Given the description of an element on the screen output the (x, y) to click on. 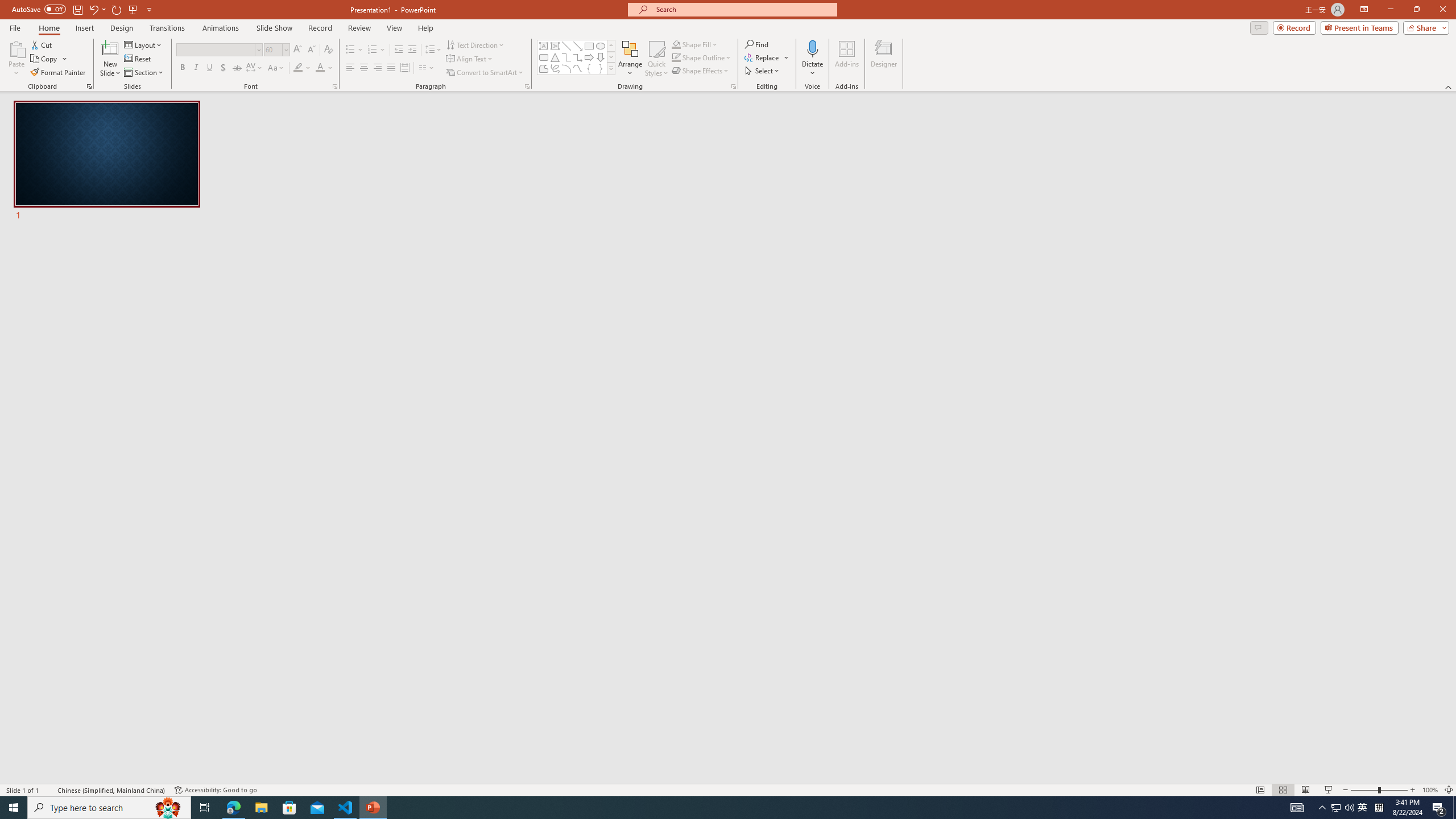
Shadow (223, 67)
AutomationID: ShapesInsertGallery (576, 57)
Align Right (377, 67)
Arc (566, 68)
Shape Outline (701, 56)
Connector: Elbow Arrow (577, 57)
Reset (138, 58)
Shape Fill (694, 44)
